Given the description of an element on the screen output the (x, y) to click on. 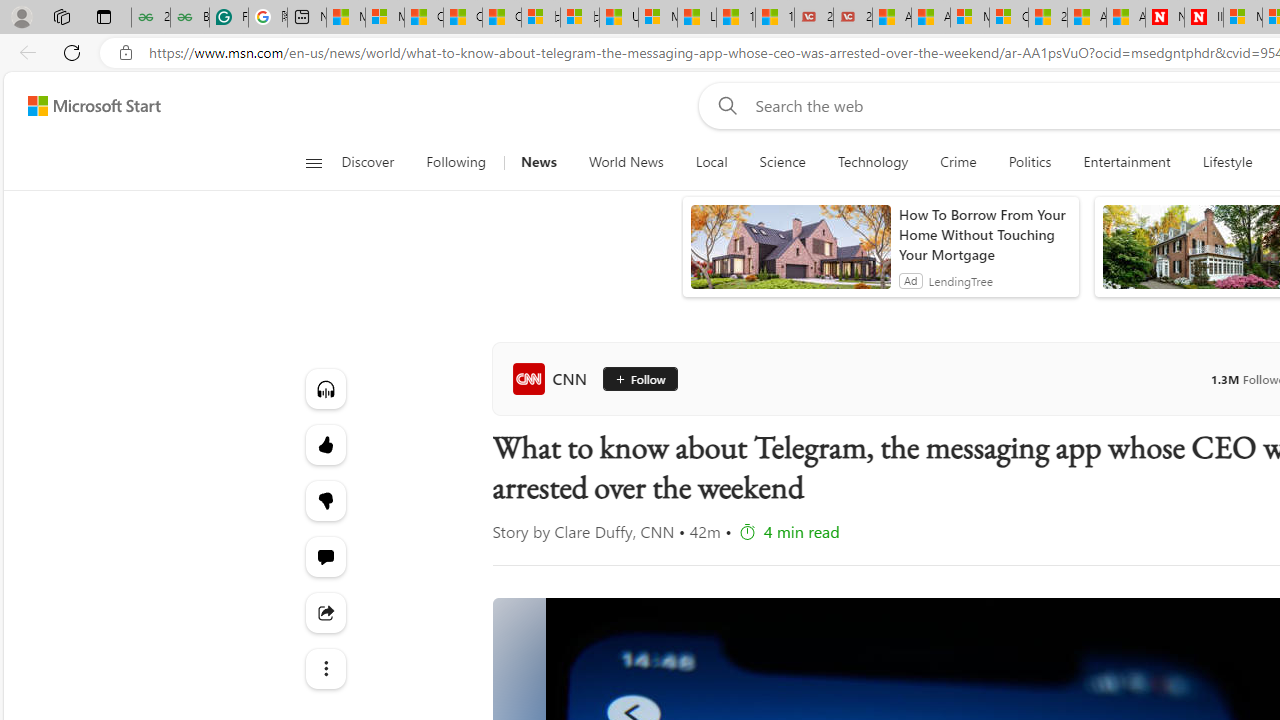
Lifestyle - MSN (696, 17)
Listen to this article (324, 388)
